Given the description of an element on the screen output the (x, y) to click on. 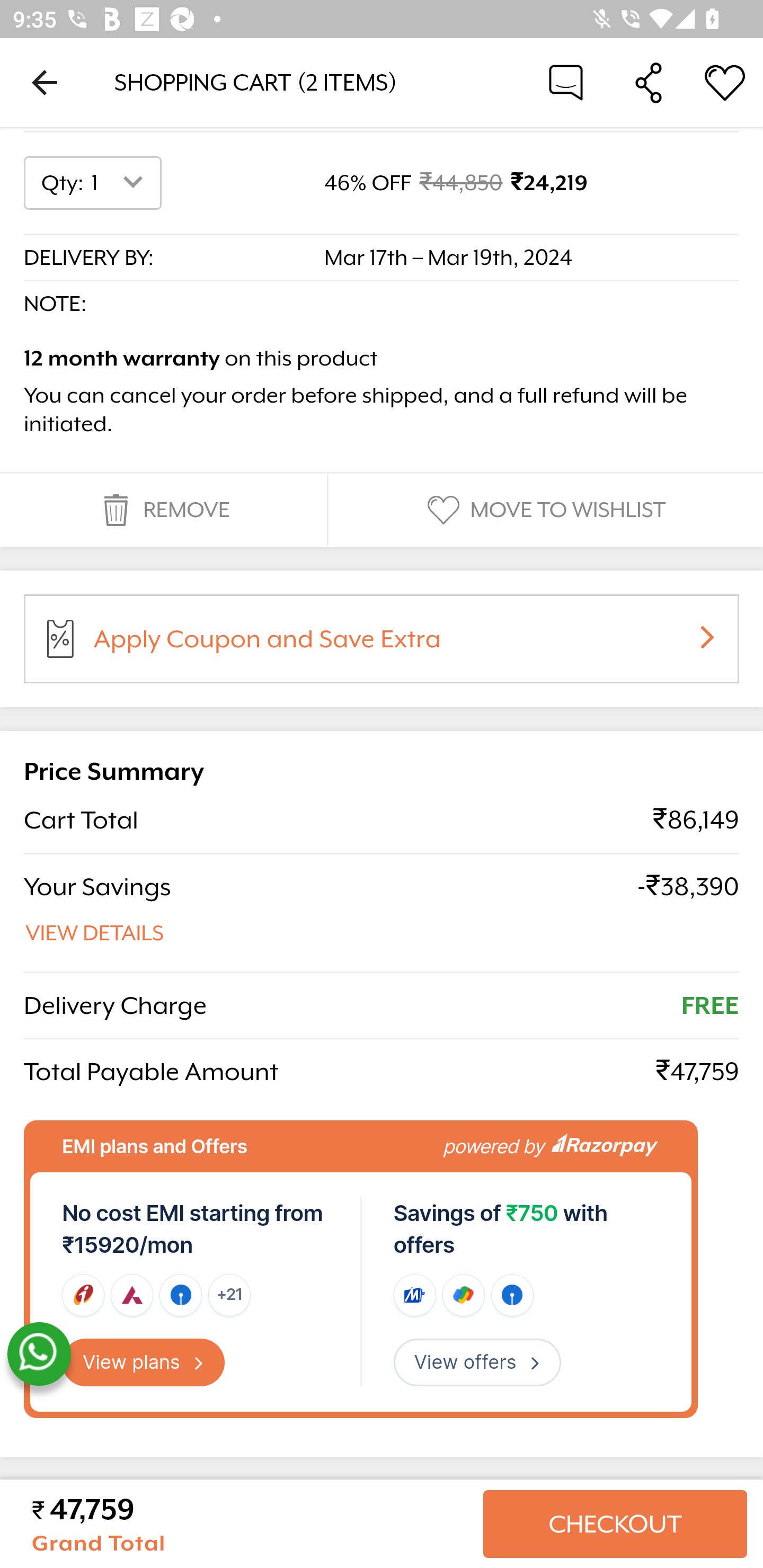
Navigate up (44, 82)
Chat (565, 81)
Share Cart (648, 81)
Wishlist (724, 81)
1 (121, 183)
REMOVE (163, 510)
MOVE TO WISHLIST (544, 510)
Apply Coupon and Save Extra (402, 645)
VIEW DETAILS (95, 933)
whatsapp (38, 1354)
View plans (143, 1362)
View offers (476, 1362)
₹ 47,759 Grand Total (250, 1523)
CHECKOUT (614, 1523)
